Given the description of an element on the screen output the (x, y) to click on. 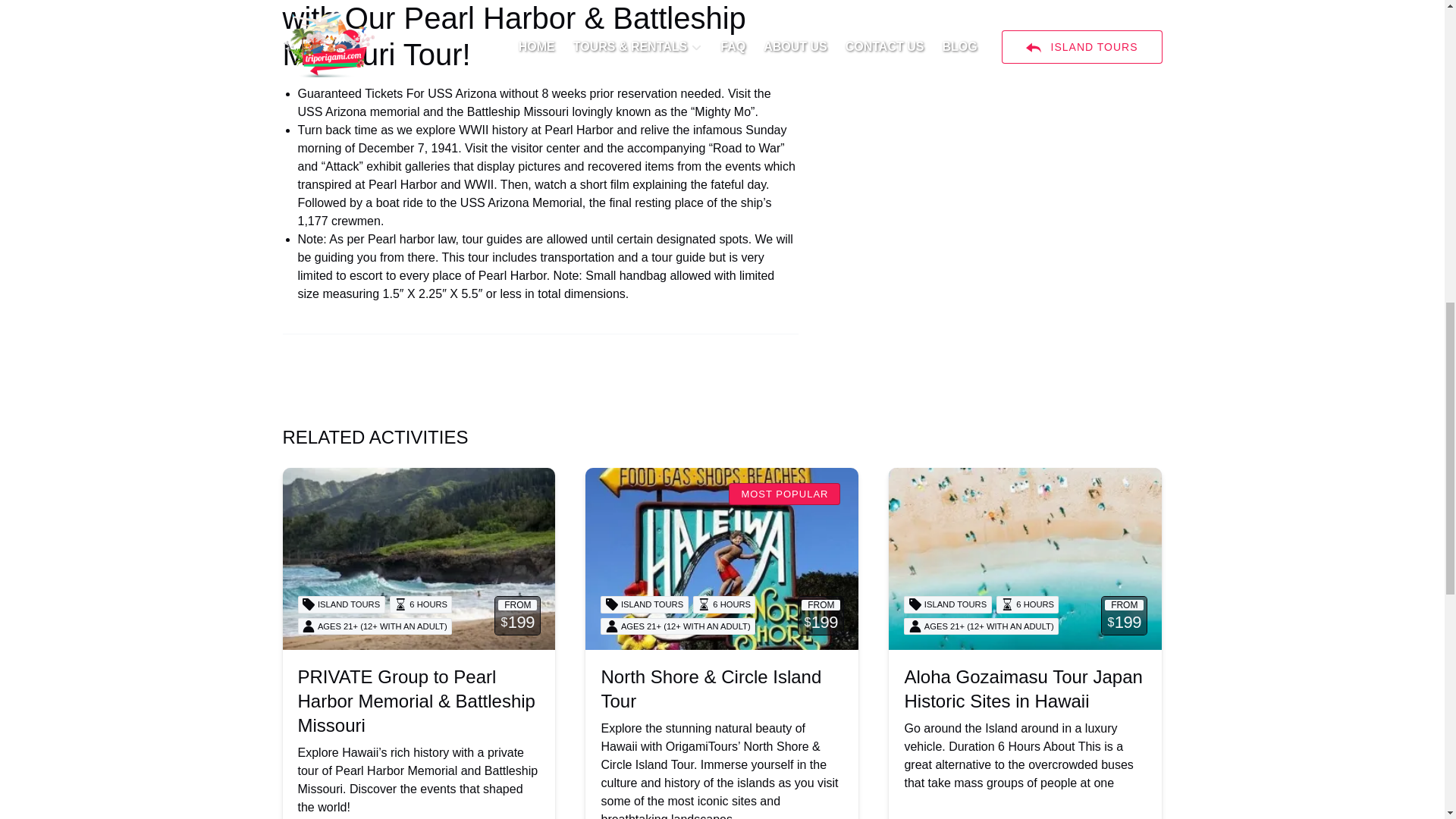
activity link (418, 558)
activity link (722, 558)
Aloha Gozaimasu Tour Japan Historic Sites in Hawaii (1022, 688)
activity link (1024, 558)
